Given the description of an element on the screen output the (x, y) to click on. 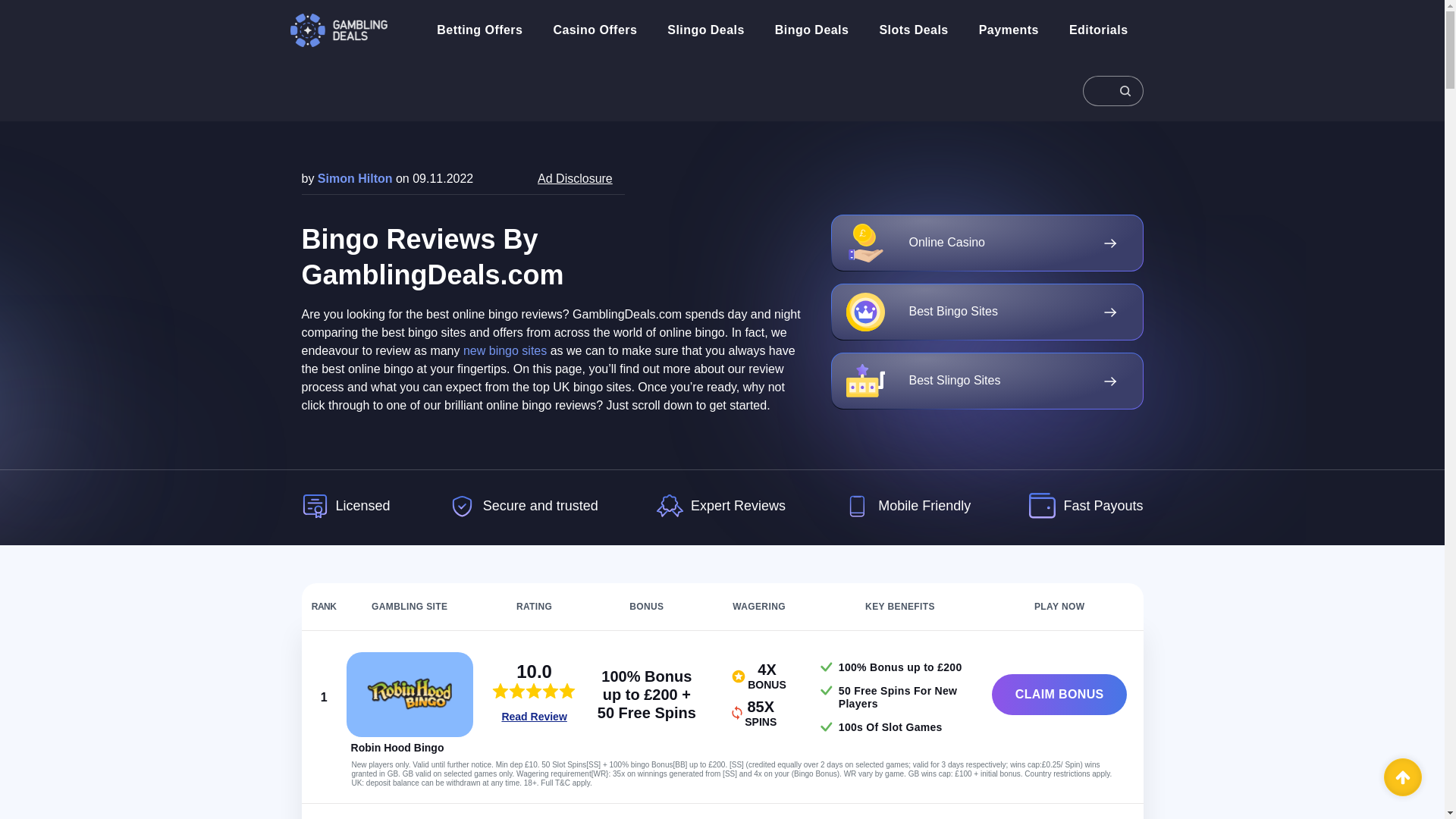
Casino Offers (595, 30)
Payments (1008, 30)
Bingo Deals (811, 30)
Robin Hood Bingo (397, 747)
Robin Hood Bingo (409, 694)
Best Bingo Sites (986, 311)
Read Review (533, 716)
Slingo Deals (705, 30)
Ad Disclosure (574, 178)
Best Slingo Sites (986, 380)
Editorials (1098, 30)
CLAIM BONUS (1058, 694)
Betting Offers (479, 30)
Ad Disclosure (574, 178)
Robin Hood Bingo (397, 747)
